Given the description of an element on the screen output the (x, y) to click on. 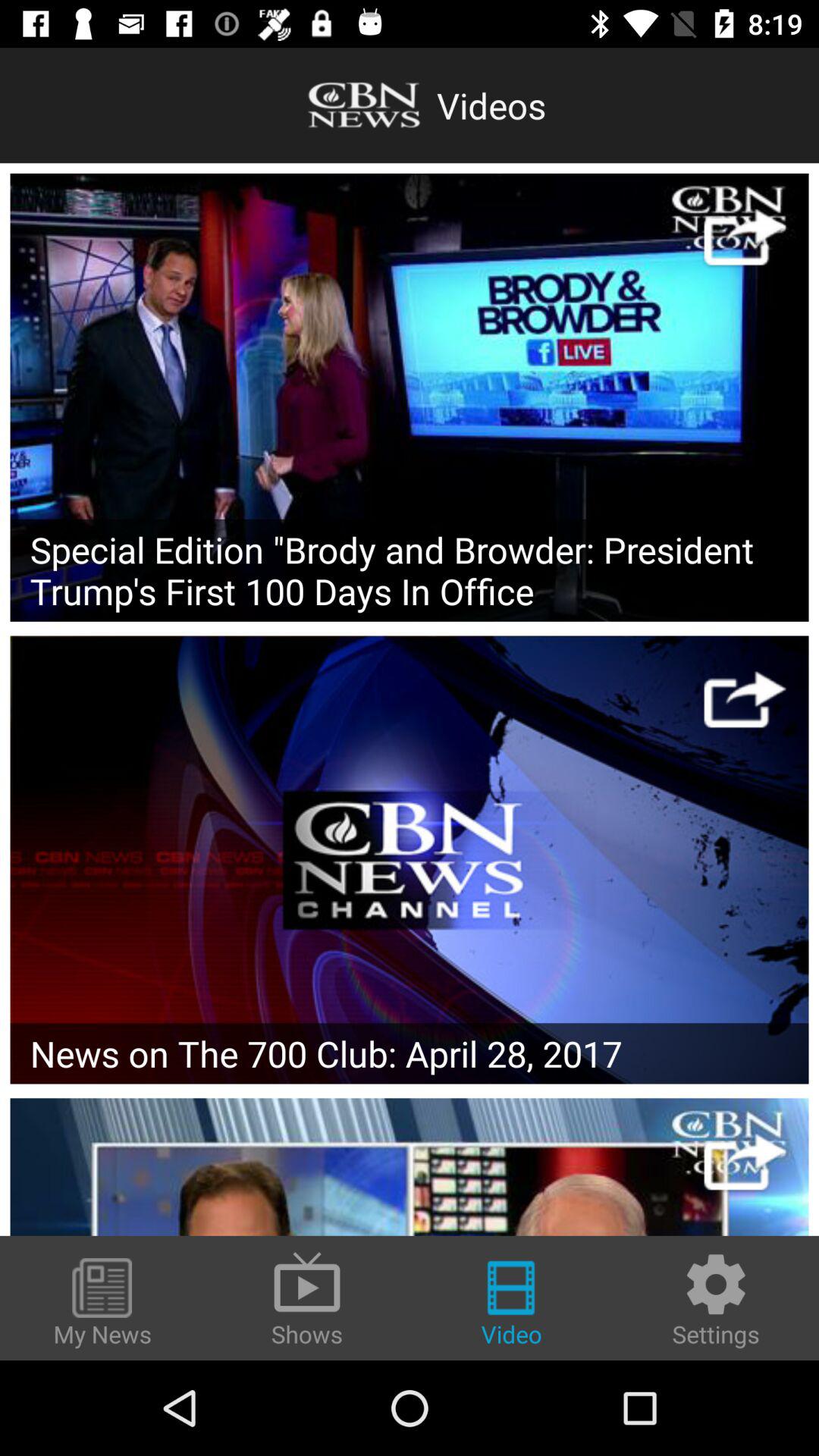
view video (409, 397)
